Given the description of an element on the screen output the (x, y) to click on. 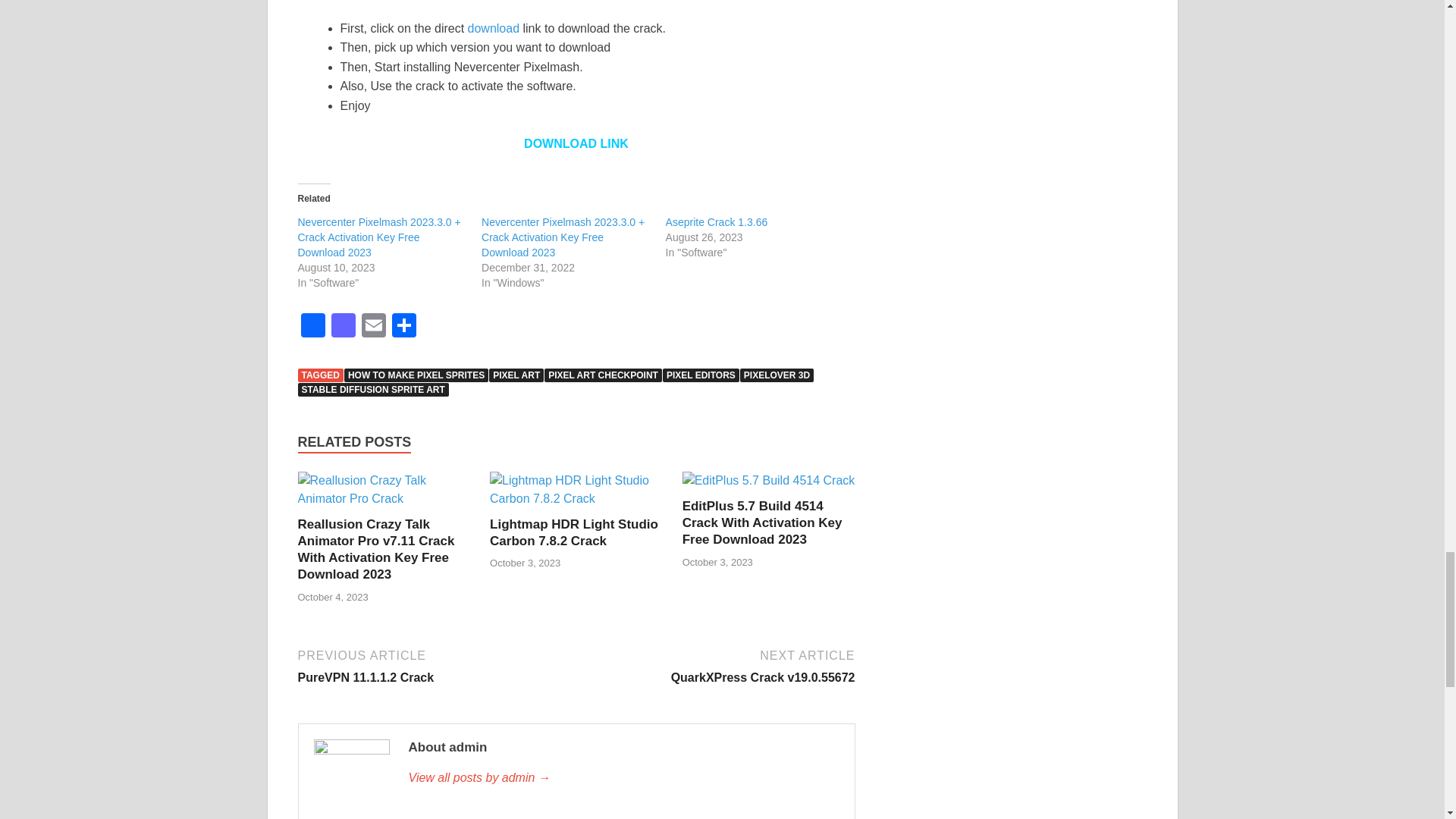
PIXELOVER 3D (776, 375)
Facebook (312, 326)
PIXEL ART CHECKPOINT (603, 375)
Aseprite Crack 1.3.66 (716, 222)
Email (373, 326)
STABLE DIFFUSION SPRITE ART (372, 389)
Lightmap HDR Light Studio Carbon 7.8.2 Crack (573, 531)
Aseprite Crack 1.3.66 (716, 222)
